Given the description of an element on the screen output the (x, y) to click on. 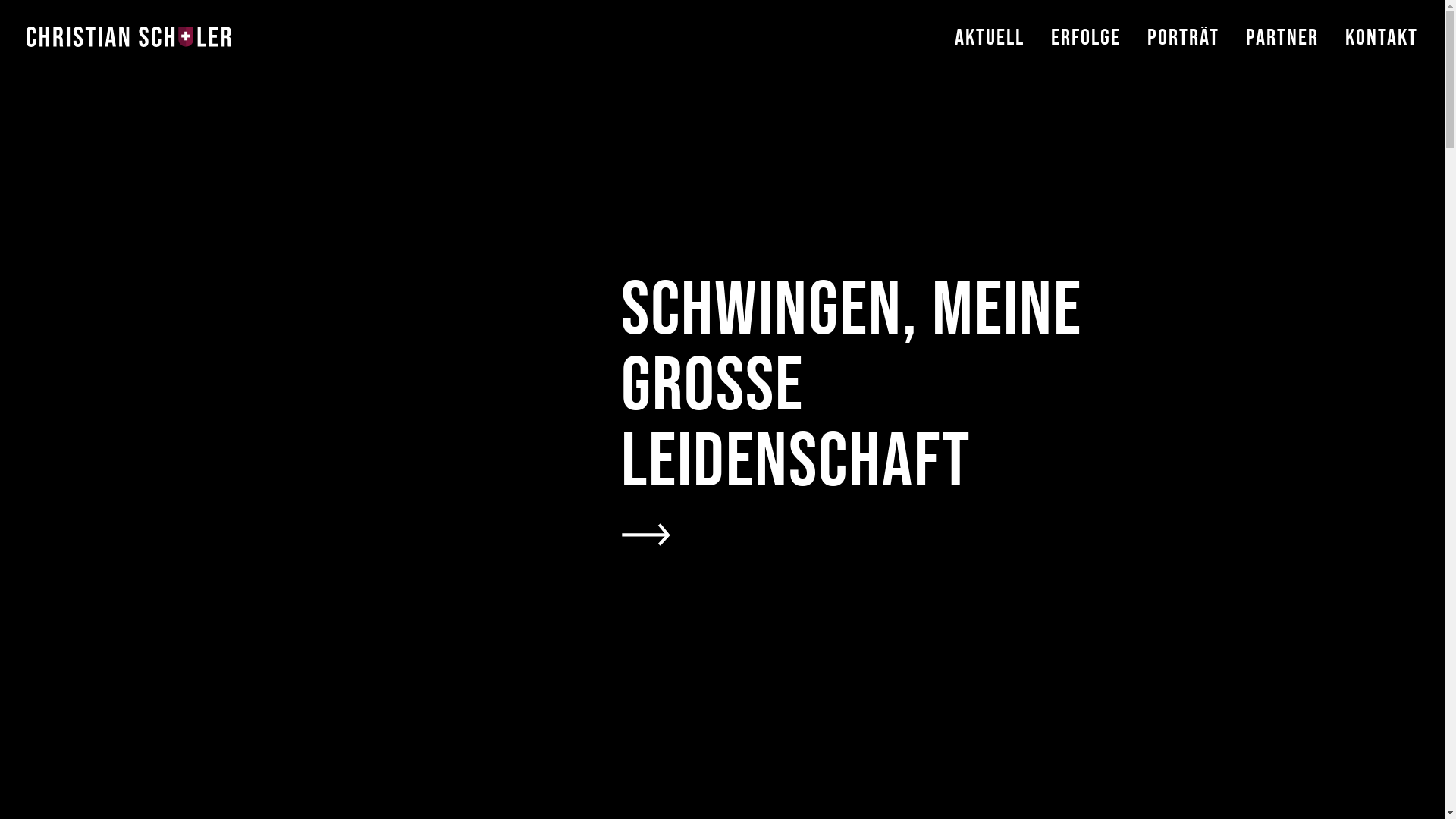
Kontakt Element type: text (1381, 37)
Partner Element type: text (1281, 60)
Erfolge Element type: text (1085, 60)
Aktuell Element type: text (989, 60)
